Given the description of an element on the screen output the (x, y) to click on. 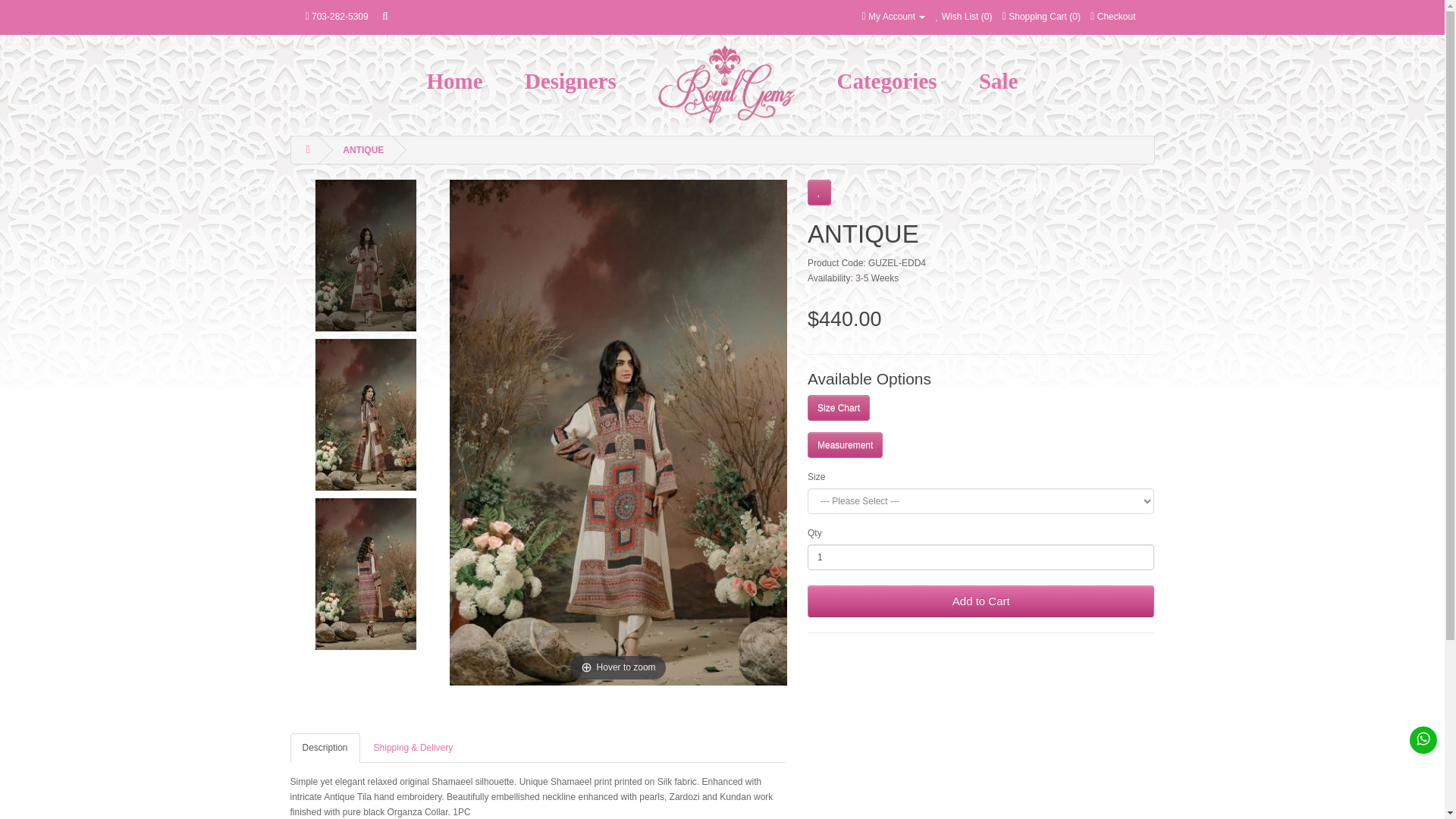
Description (324, 747)
ANTIQUE (365, 573)
Royal Gems (726, 84)
Sale (998, 80)
Checkout (1112, 16)
My Account (893, 16)
whatsapp icon (1423, 738)
1 (981, 557)
Home (454, 80)
ANTIQUE (365, 255)
Categories (886, 80)
Designers (570, 80)
ANTIQUE (363, 149)
